Given the description of an element on the screen output the (x, y) to click on. 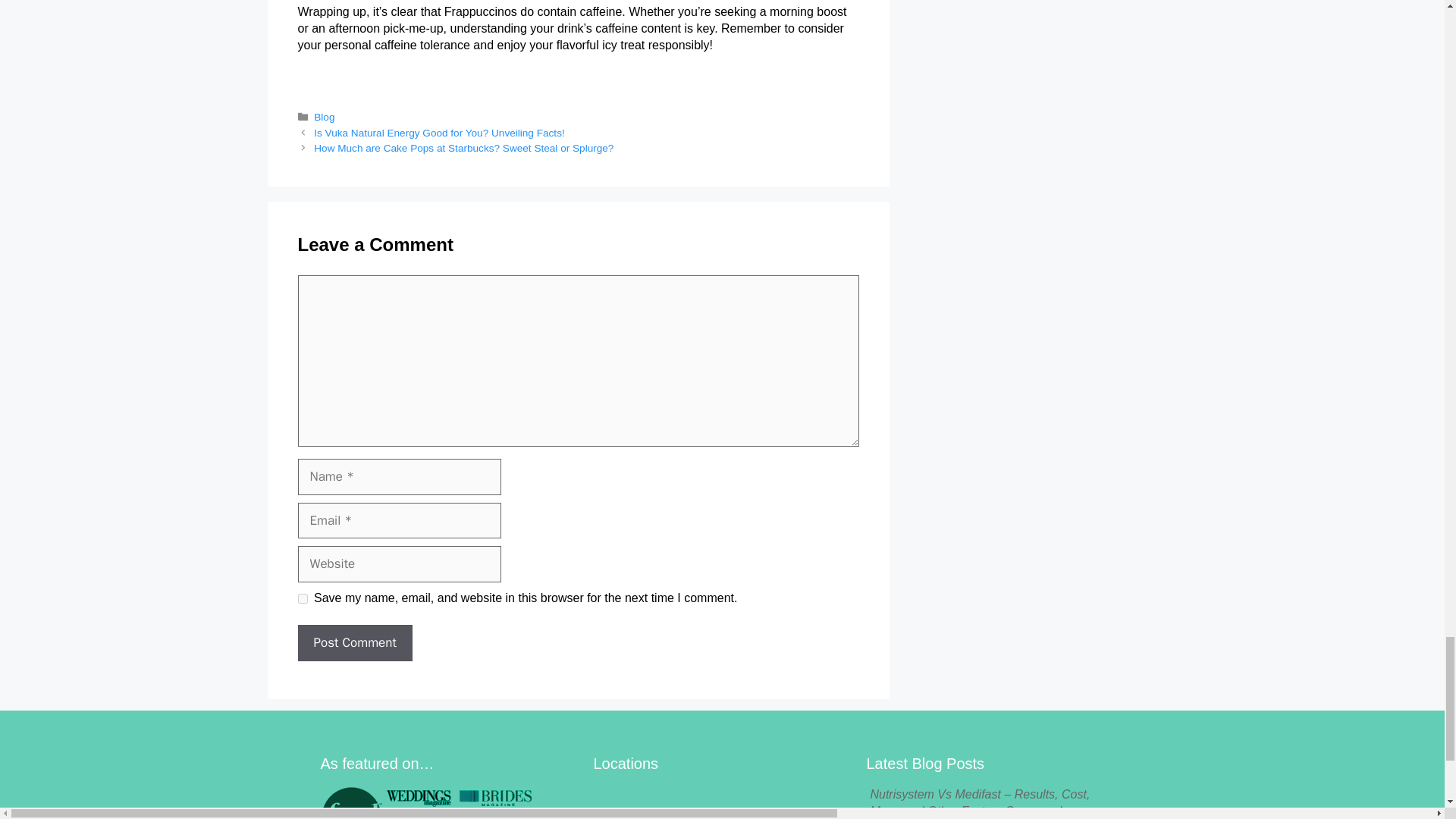
London Eye, London, United Kingdom (721, 802)
yes (302, 598)
Post Comment (354, 642)
